Given the description of an element on the screen output the (x, y) to click on. 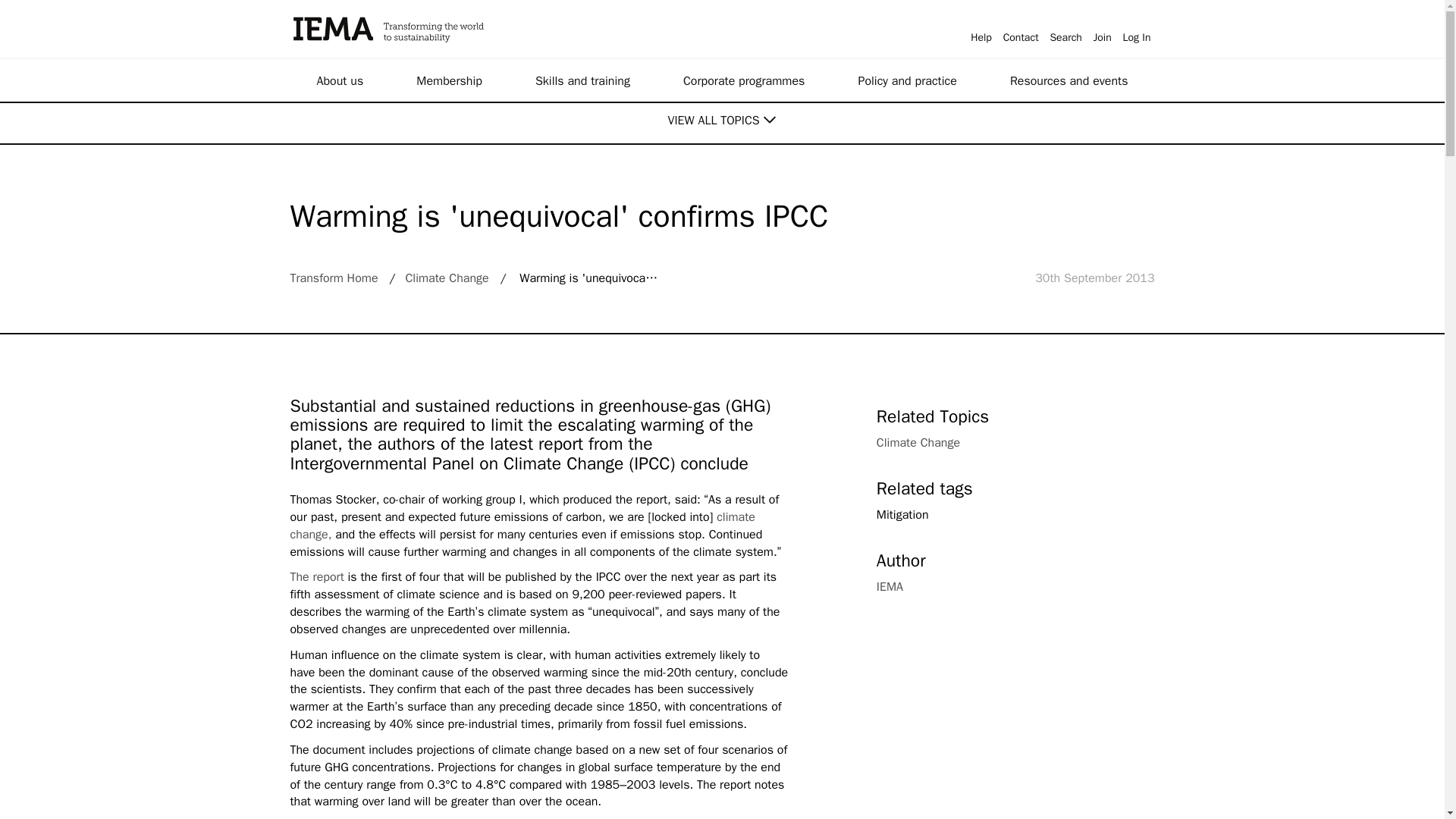
IEMA (464, 28)
Contact (1021, 26)
About us (339, 79)
Membership (449, 79)
